Given the description of an element on the screen output the (x, y) to click on. 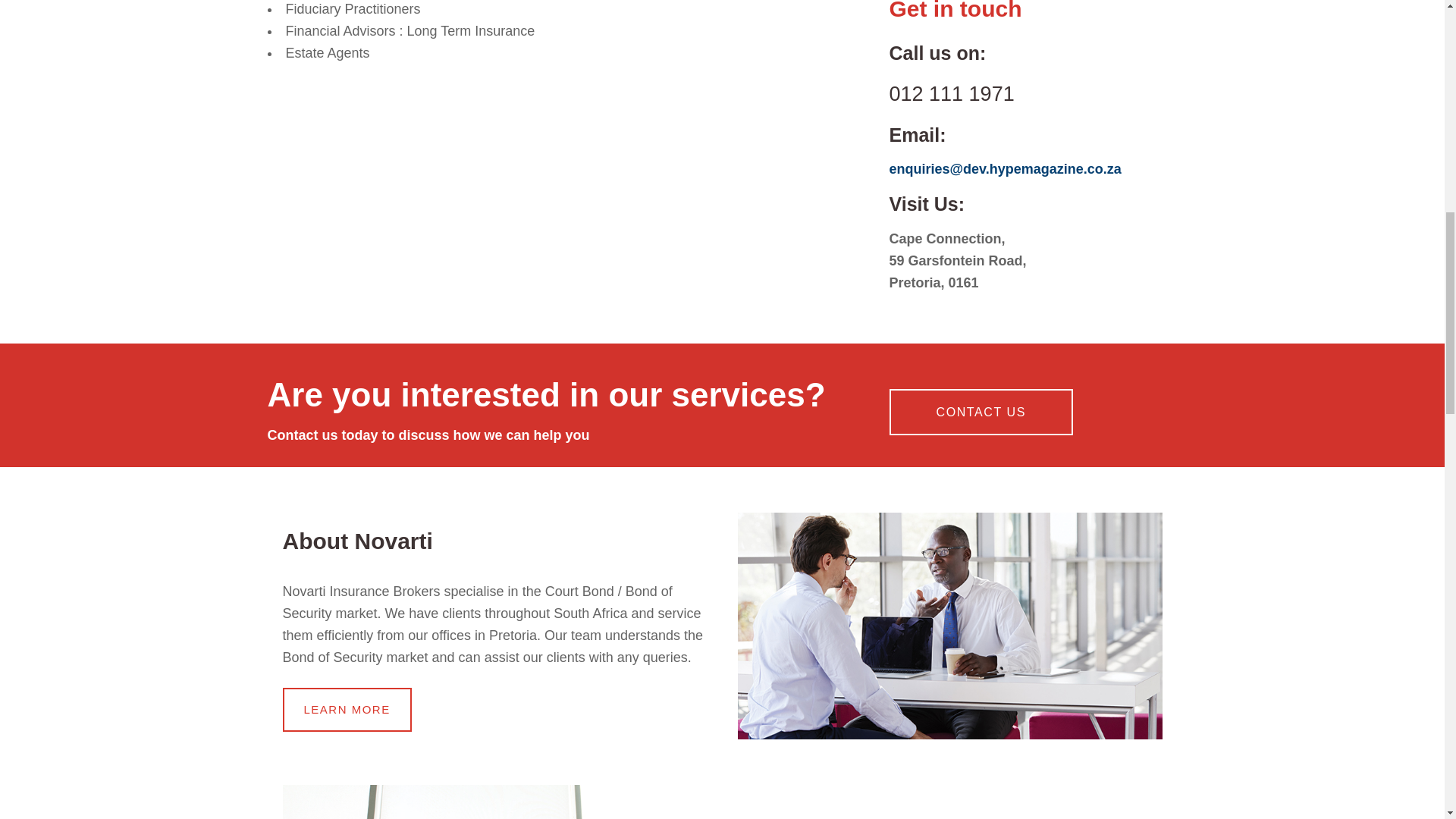
about2 (948, 625)
CONTACT US (980, 411)
LEARN MORE (346, 709)
012 111 1971 (950, 93)
